Given the description of an element on the screen output the (x, y) to click on. 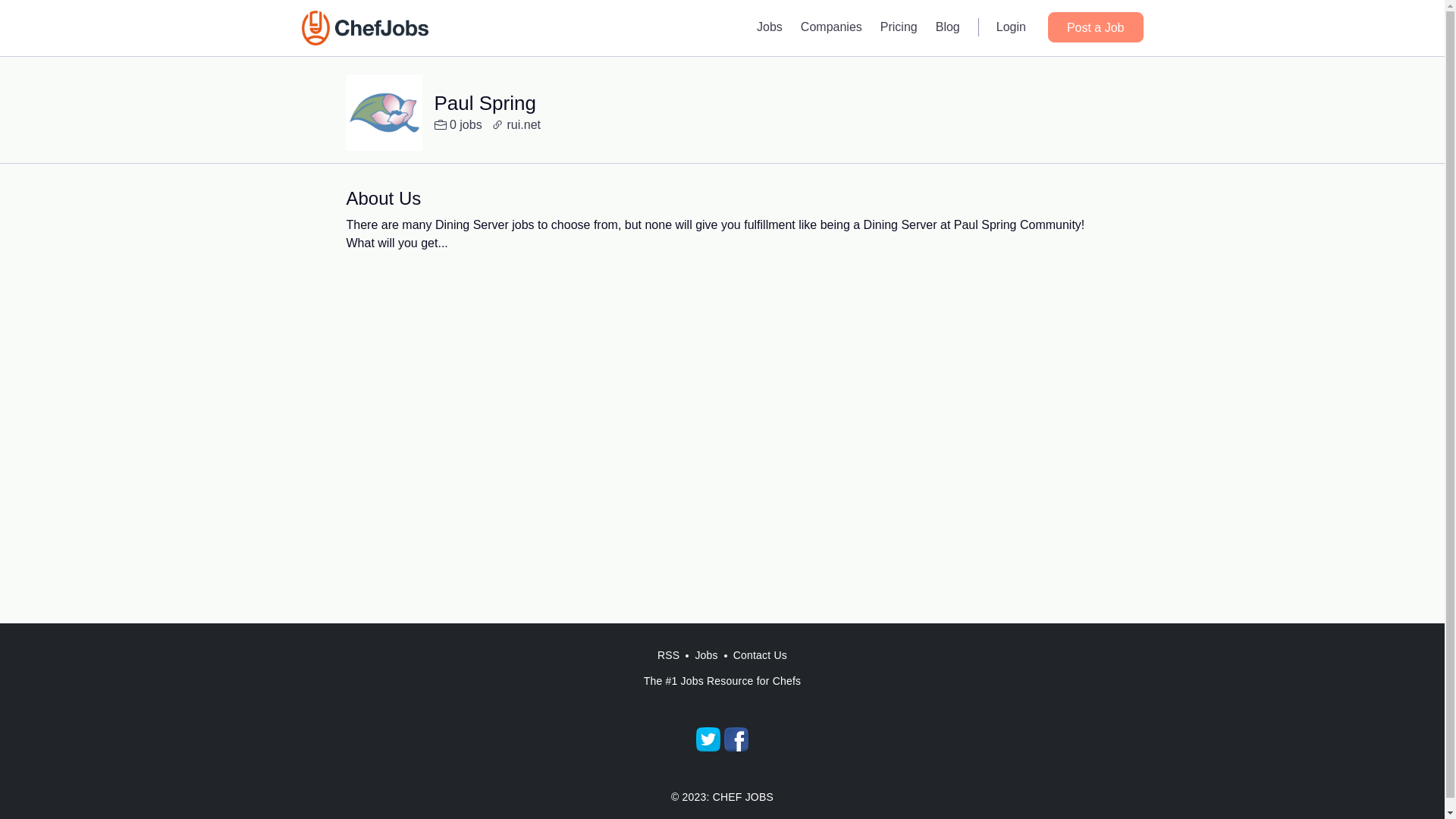
Jobs (706, 655)
Post a Job (1095, 27)
Login (1011, 26)
Jobs (770, 26)
Pricing (898, 26)
Contact Us (759, 655)
rui.net (516, 125)
0 jobs (457, 125)
Blog (947, 26)
RSS (668, 655)
Companies (831, 26)
